Given the description of an element on the screen output the (x, y) to click on. 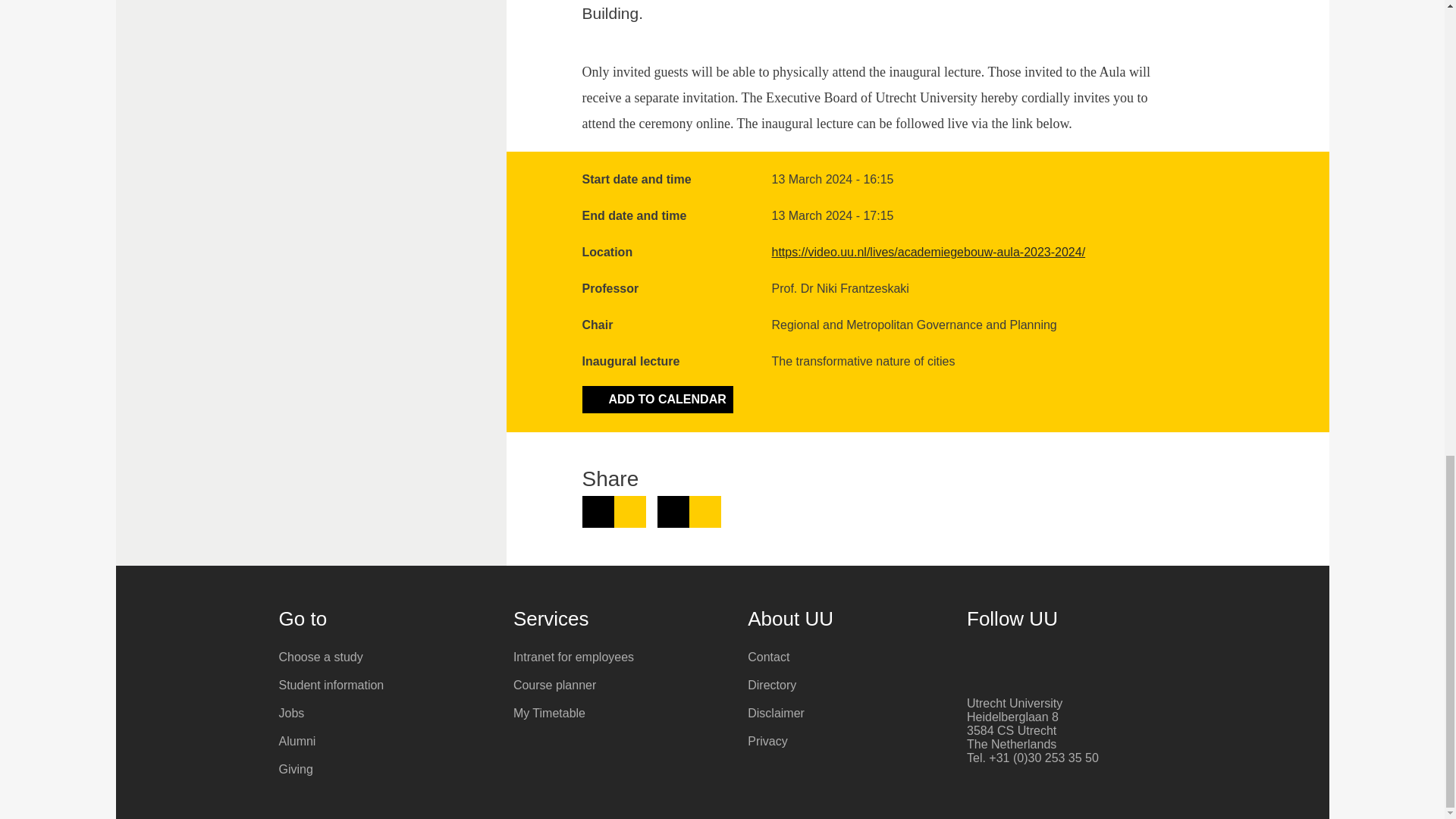
Share on Facebook (688, 511)
Facebook (975, 659)
Choose a study (384, 657)
Student information (384, 685)
Privacy (853, 741)
Jobs (384, 713)
My Timetable (619, 713)
Giving (384, 769)
Contact (853, 657)
Instagram (1057, 659)
